Given the description of an element on the screen output the (x, y) to click on. 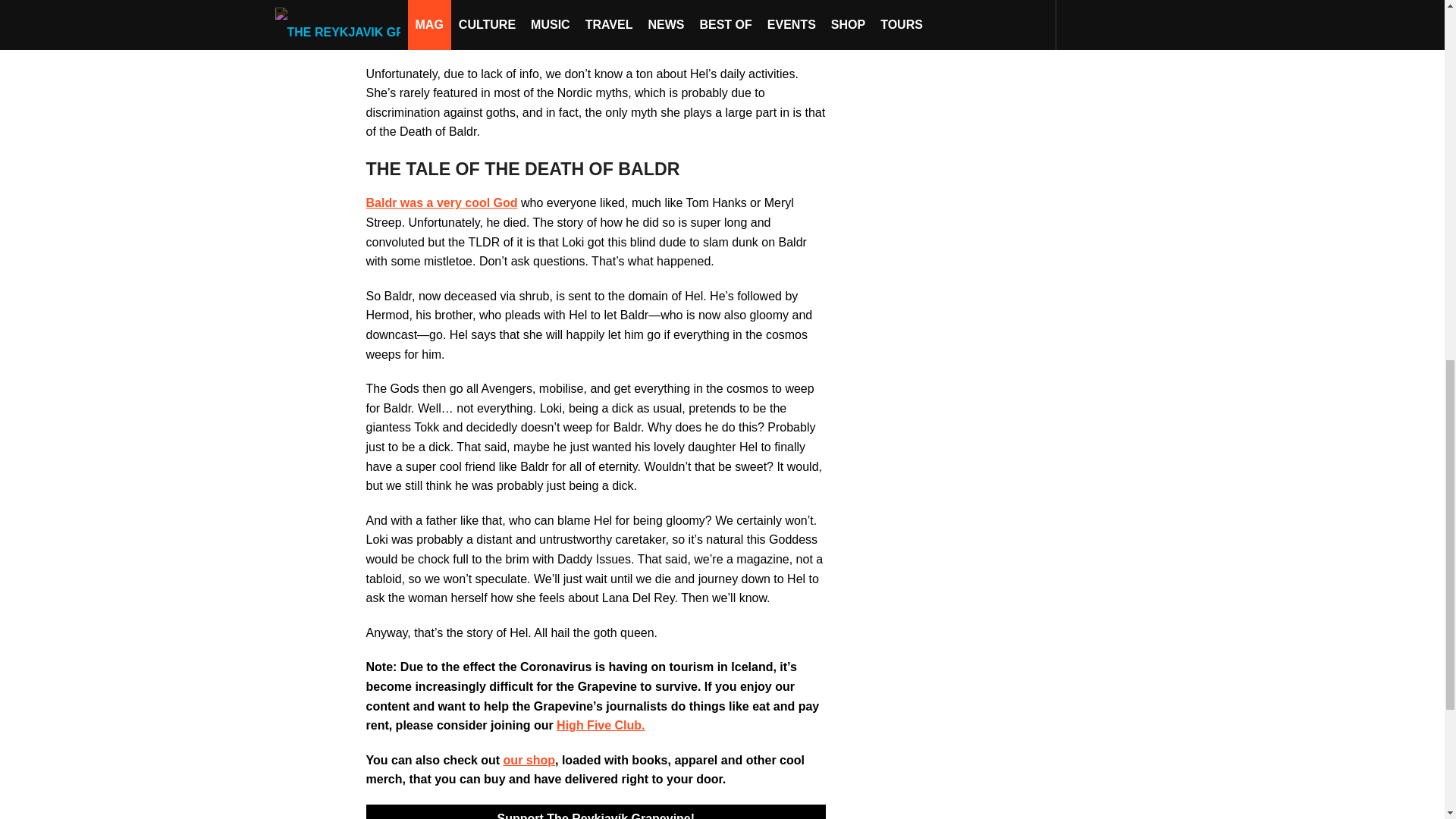
Baldr was a very cool God (440, 202)
our shop (528, 759)
High Five Club. (600, 725)
